Given the description of an element on the screen output the (x, y) to click on. 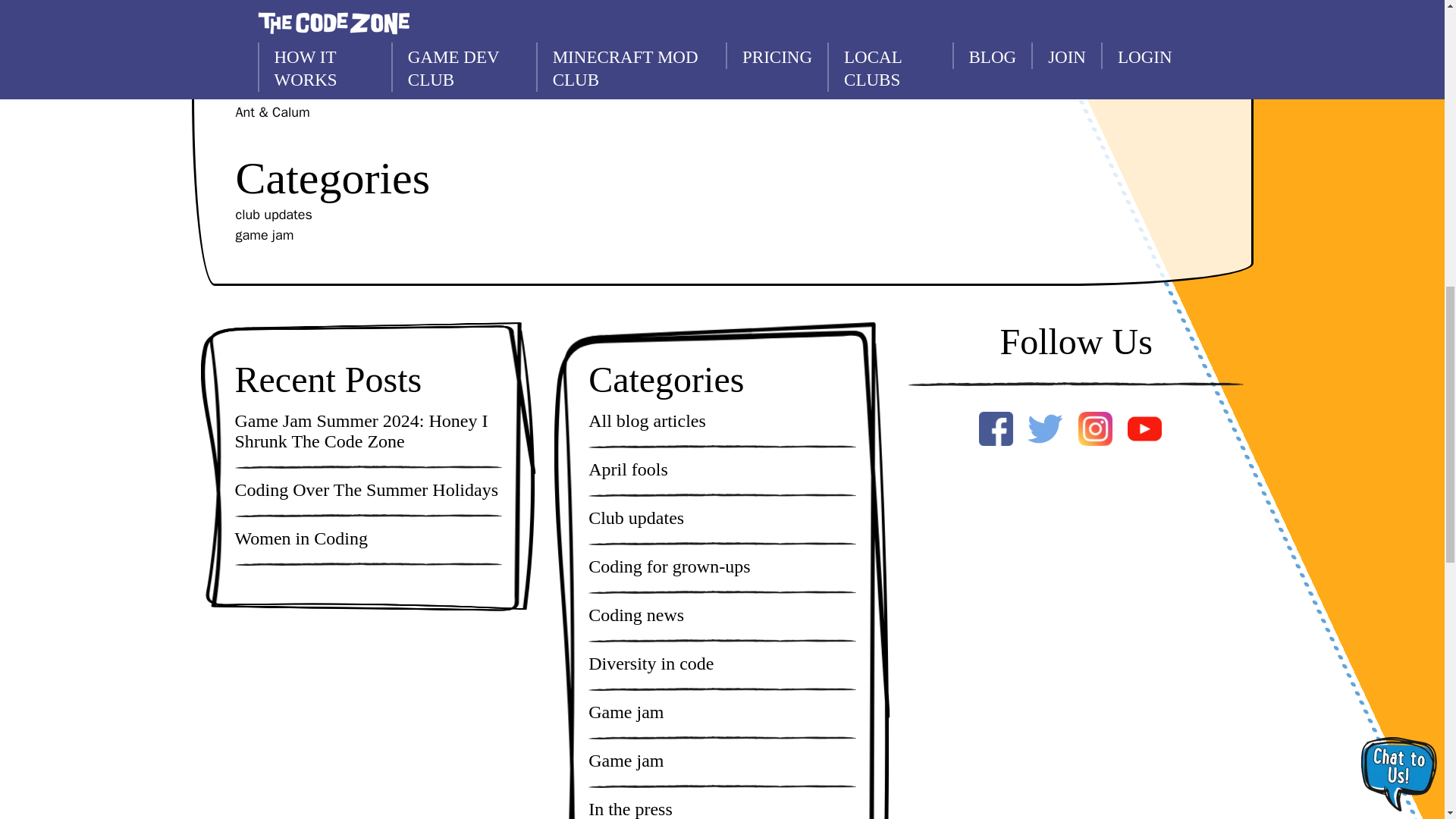
Diversity in code (650, 663)
In the press (630, 809)
game jam (264, 235)
Women in Coding (301, 538)
Club updates blog articles (636, 517)
Coding news blog articles (636, 615)
club updates (272, 214)
April fools blog articles (628, 469)
Club updates (636, 517)
Game Jam Summer 2024: Honey I Shrunk The Code Zone (368, 431)
All blog articles (647, 421)
Game jam (625, 711)
April fools (628, 469)
Game jam blog articles (625, 711)
Diversity in code blog articles (650, 663)
